Given the description of an element on the screen output the (x, y) to click on. 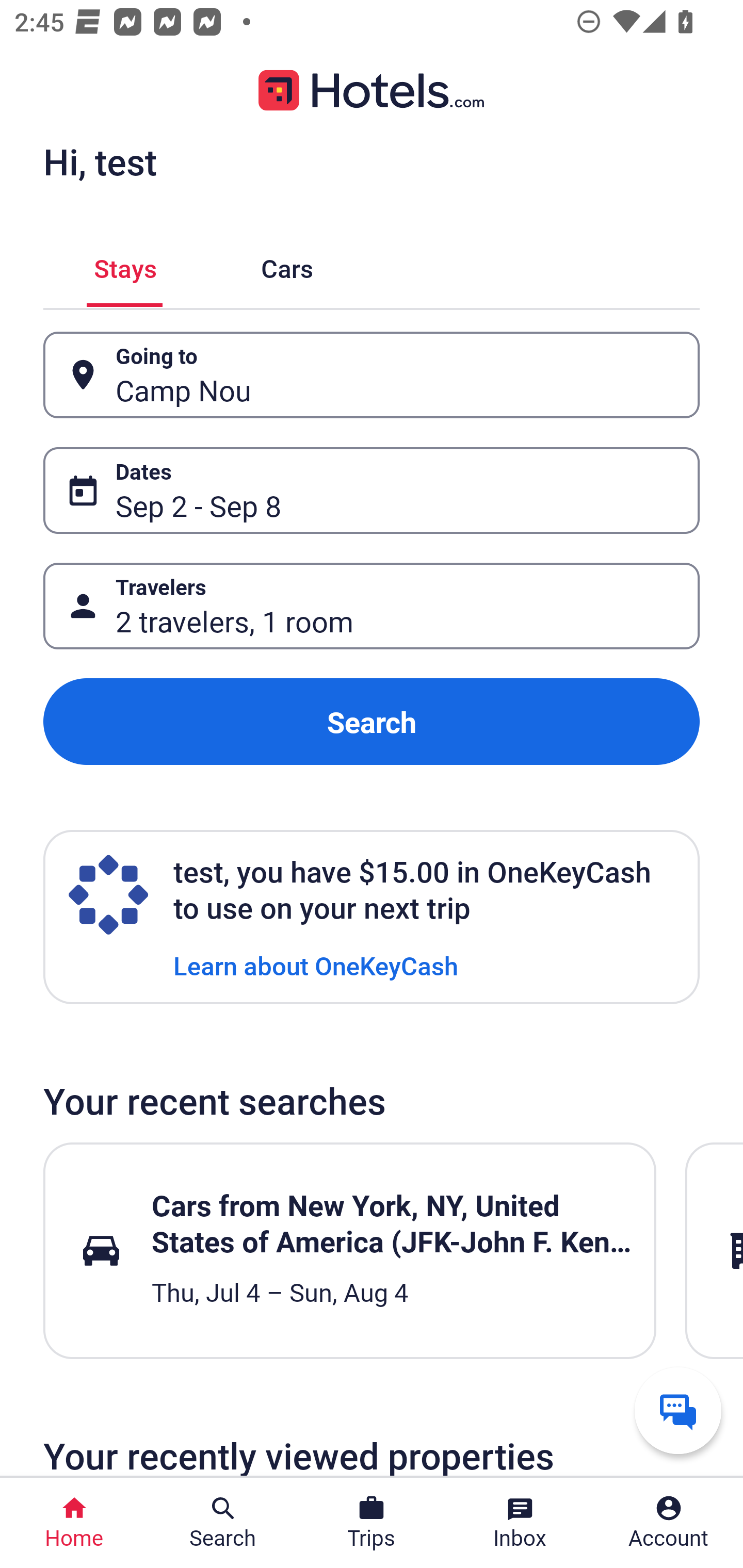
Hi, test (99, 161)
Cars (286, 265)
Going to Button Camp Nou (371, 375)
Dates Button Sep 2 - Sep 8 (371, 489)
Travelers Button 2 travelers, 1 room (371, 605)
Search (371, 721)
Learn about OneKeyCash Learn about OneKeyCash Link (315, 964)
Get help from a virtual agent (677, 1410)
Search Search Button (222, 1522)
Trips Trips Button (371, 1522)
Inbox Inbox Button (519, 1522)
Account Profile. Button (668, 1522)
